Given the description of an element on the screen output the (x, y) to click on. 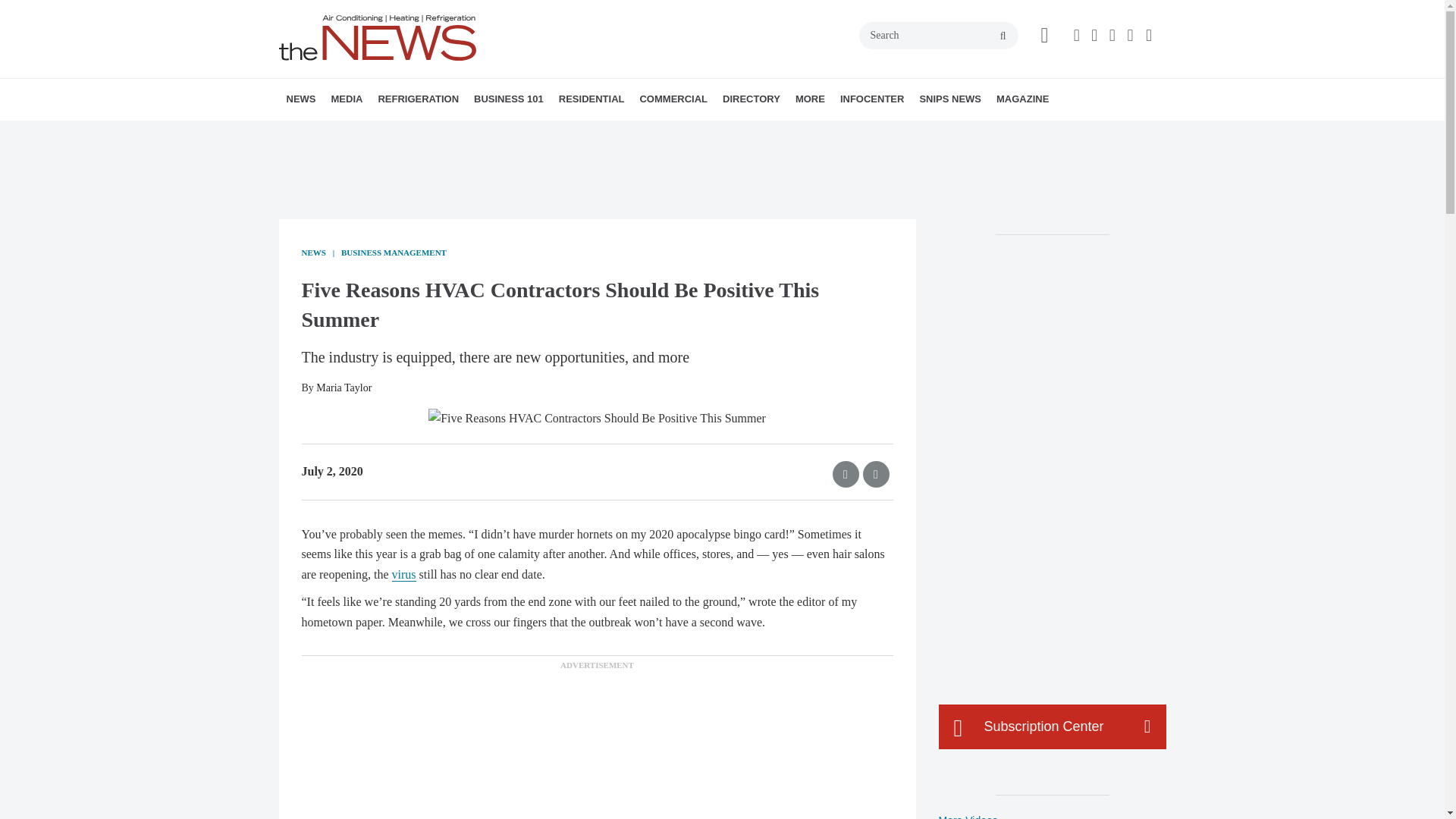
FROSTLINES (478, 132)
Search (938, 35)
NEW HVAC PRODUCTS (380, 132)
MEDIA (346, 98)
REFRIGERATION (417, 98)
BUSINESS 101 (508, 98)
THE NEWS HVACR QUIZ (445, 132)
PODCASTS (430, 132)
HVAC DATA (391, 132)
Search (938, 35)
